Given the description of an element on the screen output the (x, y) to click on. 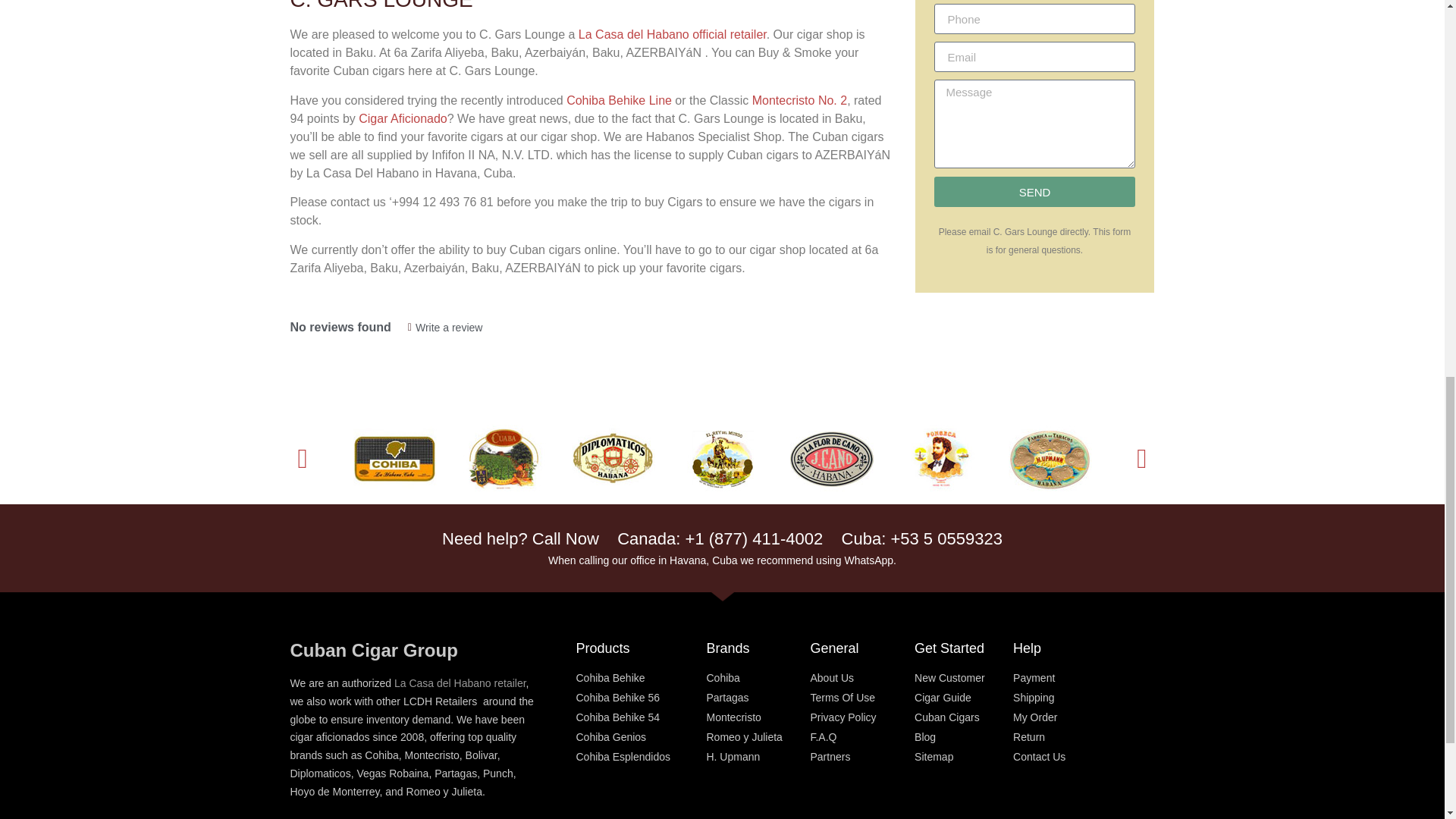
La Casa del Habano official retailer (672, 33)
Montecristo No. 2 (799, 100)
SEND (1034, 191)
Cohiba Behike Line (618, 100)
Cigar Aficionado (402, 118)
